Given the description of an element on the screen output the (x, y) to click on. 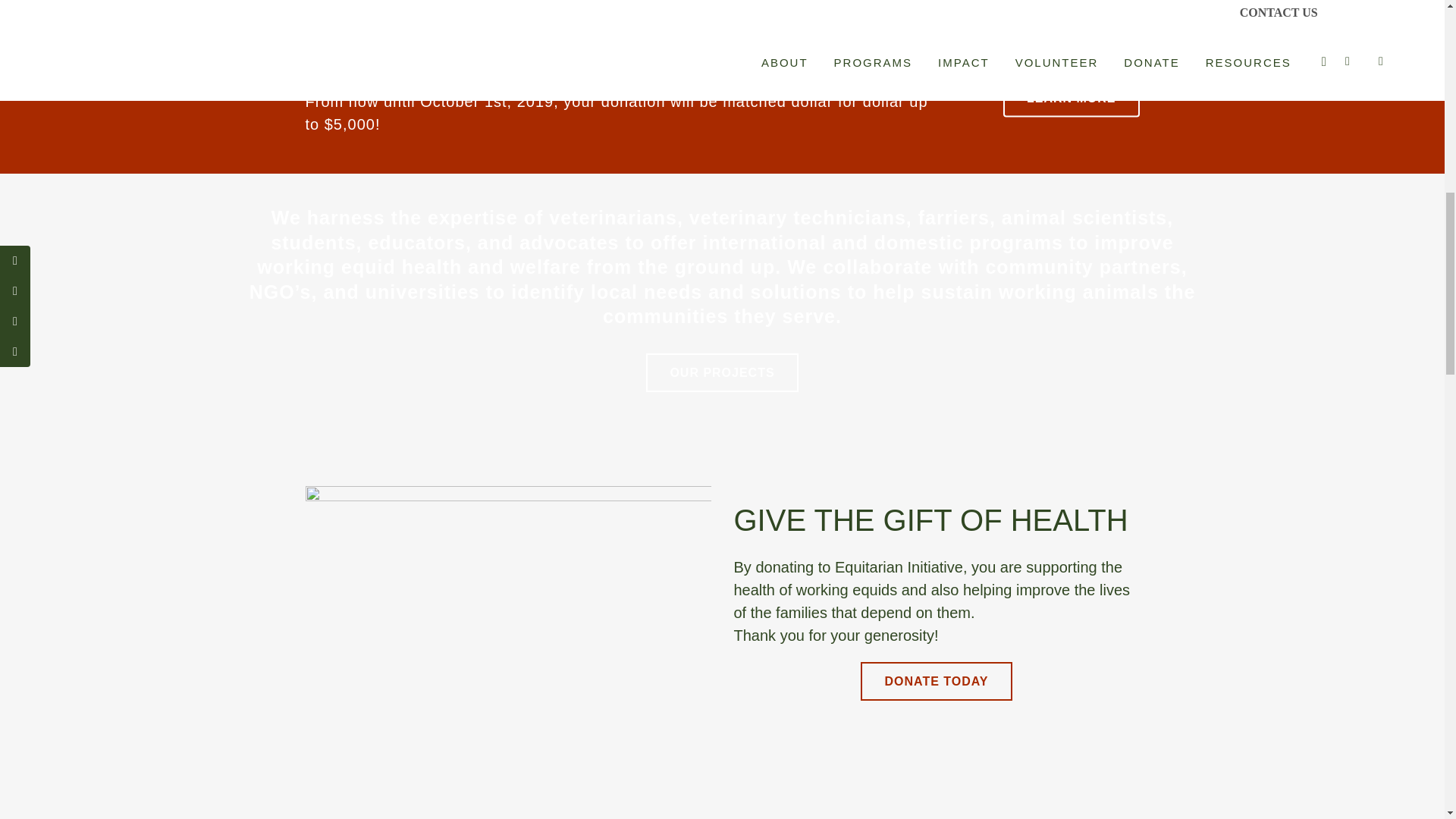
LEARN MORE (1071, 97)
DONATE TODAY (935, 681)
OUR PROJECTS (721, 372)
